Given the description of an element on the screen output the (x, y) to click on. 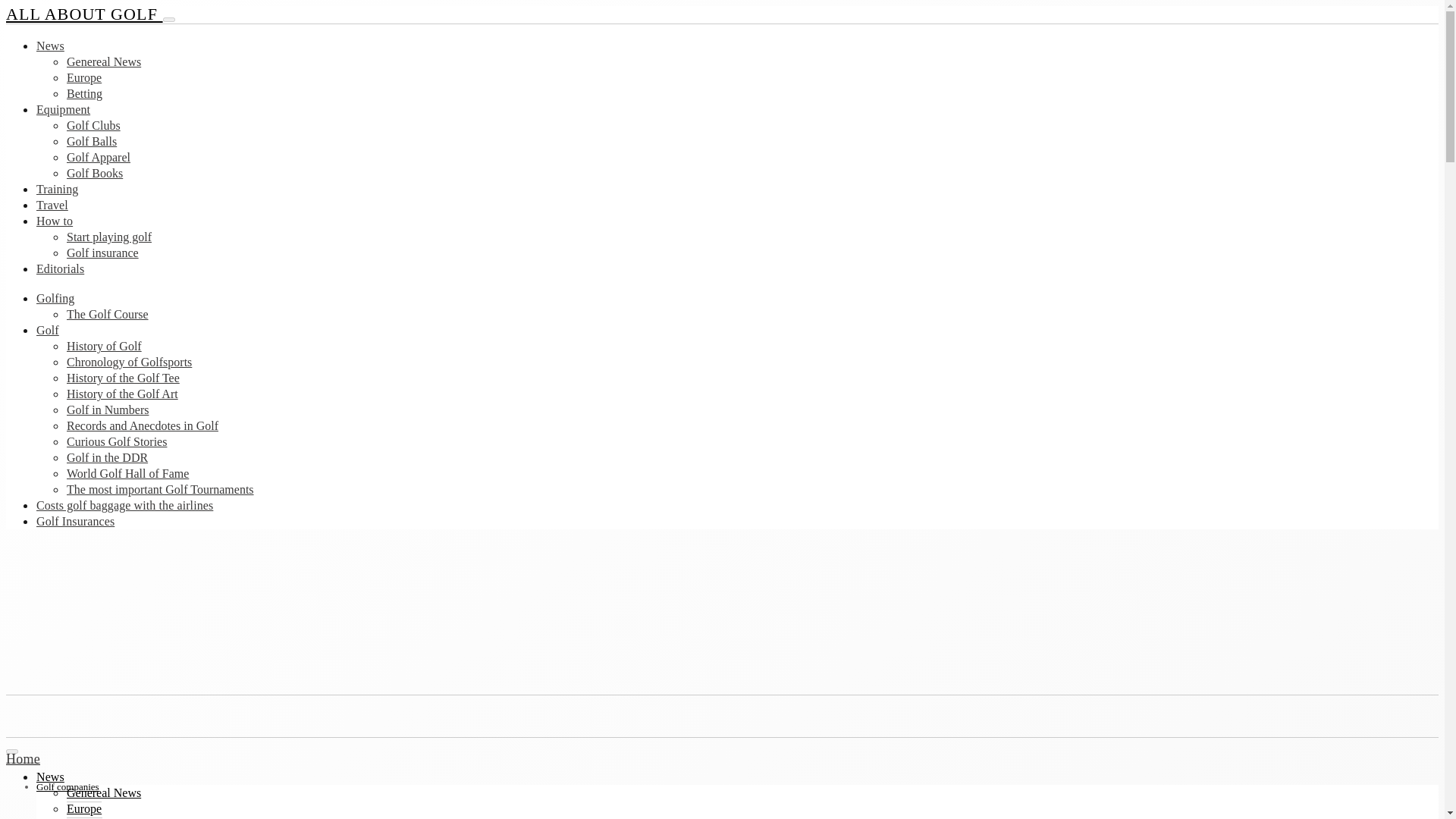
Genereal News (103, 792)
Europe (83, 77)
History of the Golf Art (121, 393)
Golf Apparel (98, 156)
History of the Golf Tee (122, 377)
Travel (52, 205)
Golf Balls (91, 141)
Chronology of Golfsports (129, 361)
Costs golf baggage with the airlines (124, 504)
World Golf Hall of Fame (127, 472)
